Given the description of an element on the screen output the (x, y) to click on. 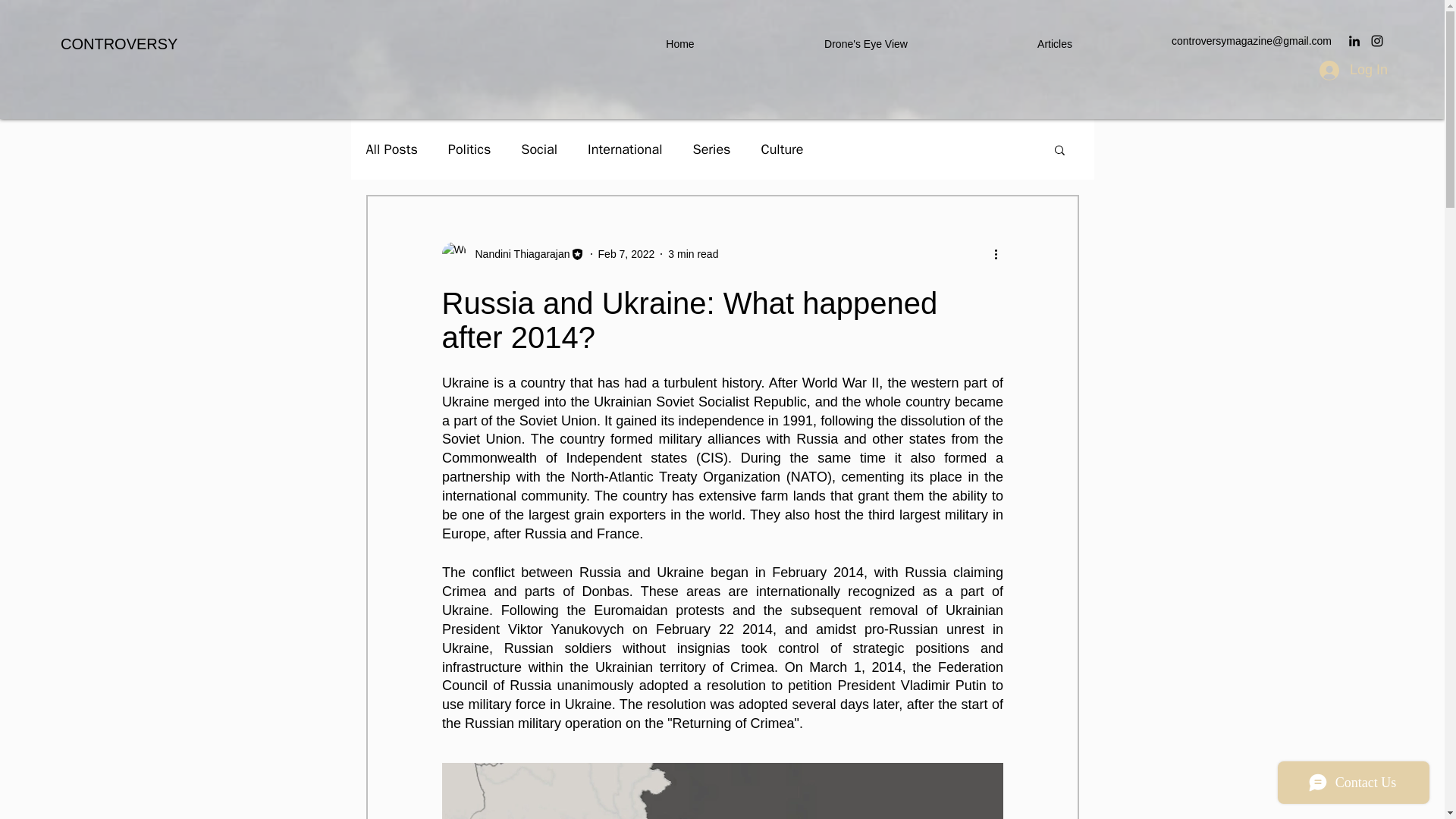
Social (539, 149)
3 min read (692, 254)
Feb 7, 2022 (626, 254)
Series (711, 149)
Culture (781, 149)
Home (679, 44)
Nandini Thiagarajan  (517, 254)
All Posts (390, 149)
Articles (1054, 44)
International (625, 149)
